Given the description of an element on the screen output the (x, y) to click on. 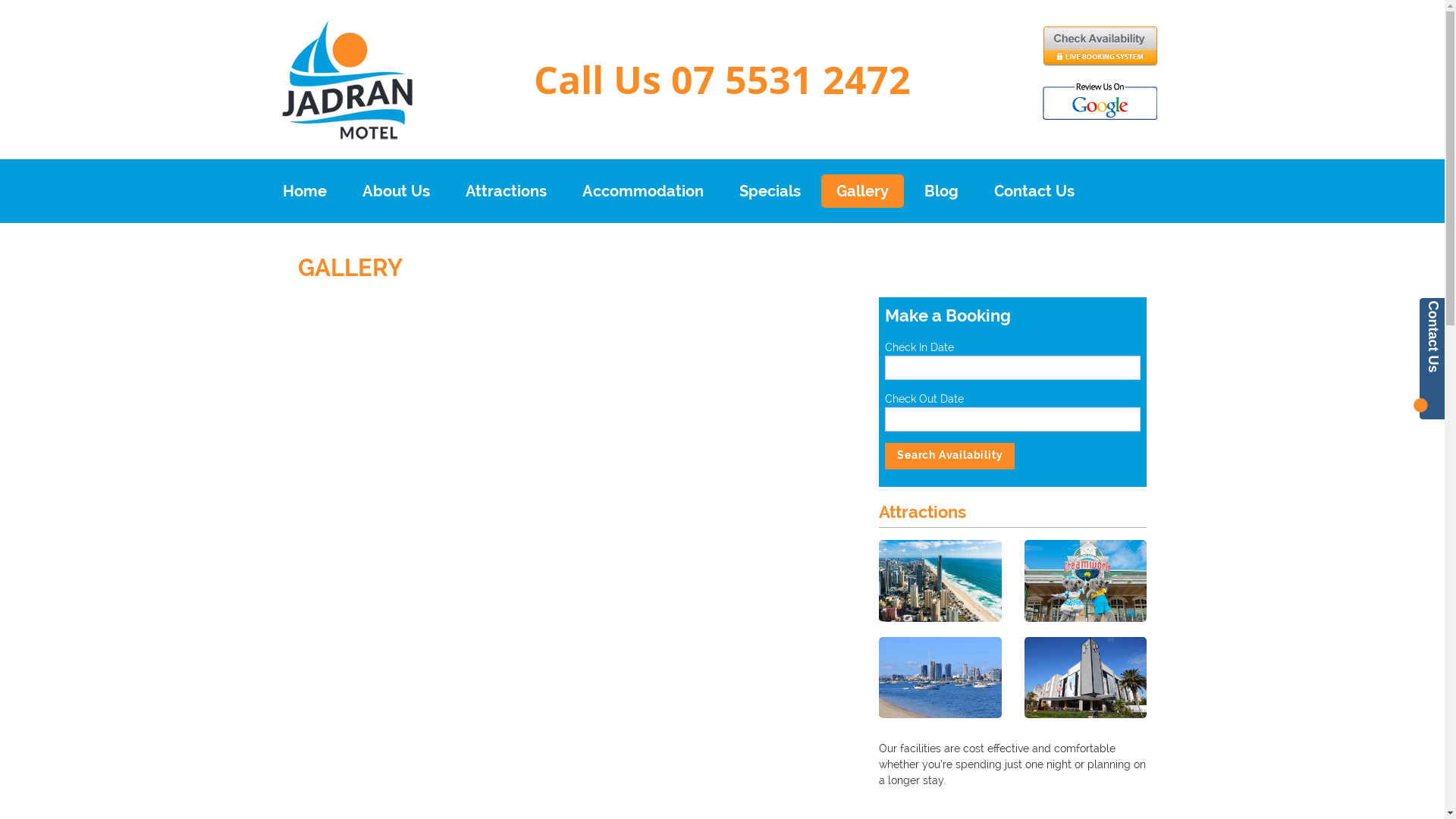
Specials Element type: text (769, 190)
Call Us 07 5531 2472 Element type: text (721, 79)
Attractions Element type: text (505, 190)
Accommodation Element type: text (642, 190)
Blog Element type: text (940, 190)
Home Element type: text (303, 190)
Gallery Element type: text (861, 190)
Contact Us Element type: text (1033, 190)
Search Availability Element type: text (949, 455)
About Us Element type: text (396, 190)
